Given the description of an element on the screen output the (x, y) to click on. 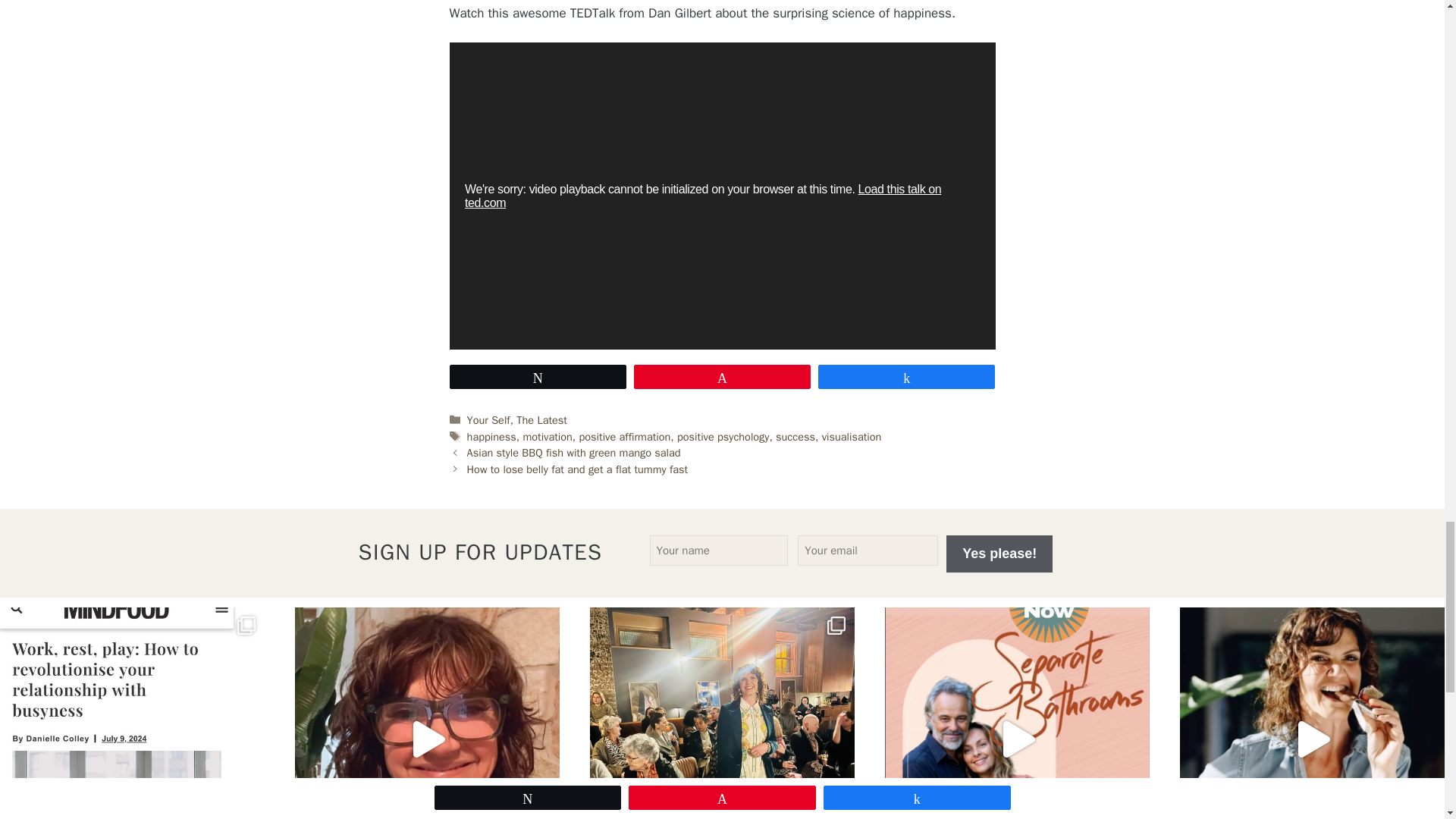
The Latest (541, 419)
Yes please! (999, 553)
Your Self (489, 419)
